Given the description of an element on the screen output the (x, y) to click on. 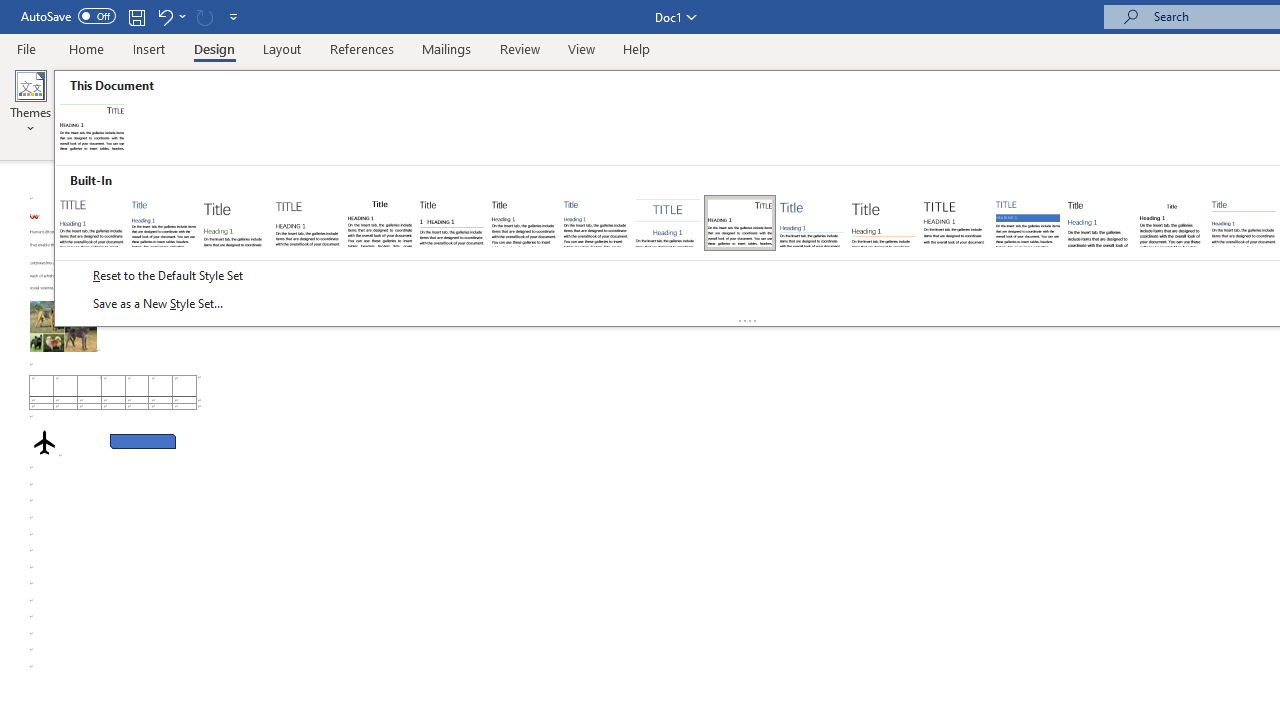
Undo Apply Quick Style Set (164, 15)
Undo Apply Quick Style Set (170, 15)
Themes (30, 102)
Rectangle: Diagonal Corners Snipped 2 (143, 441)
